Given the description of an element on the screen output the (x, y) to click on. 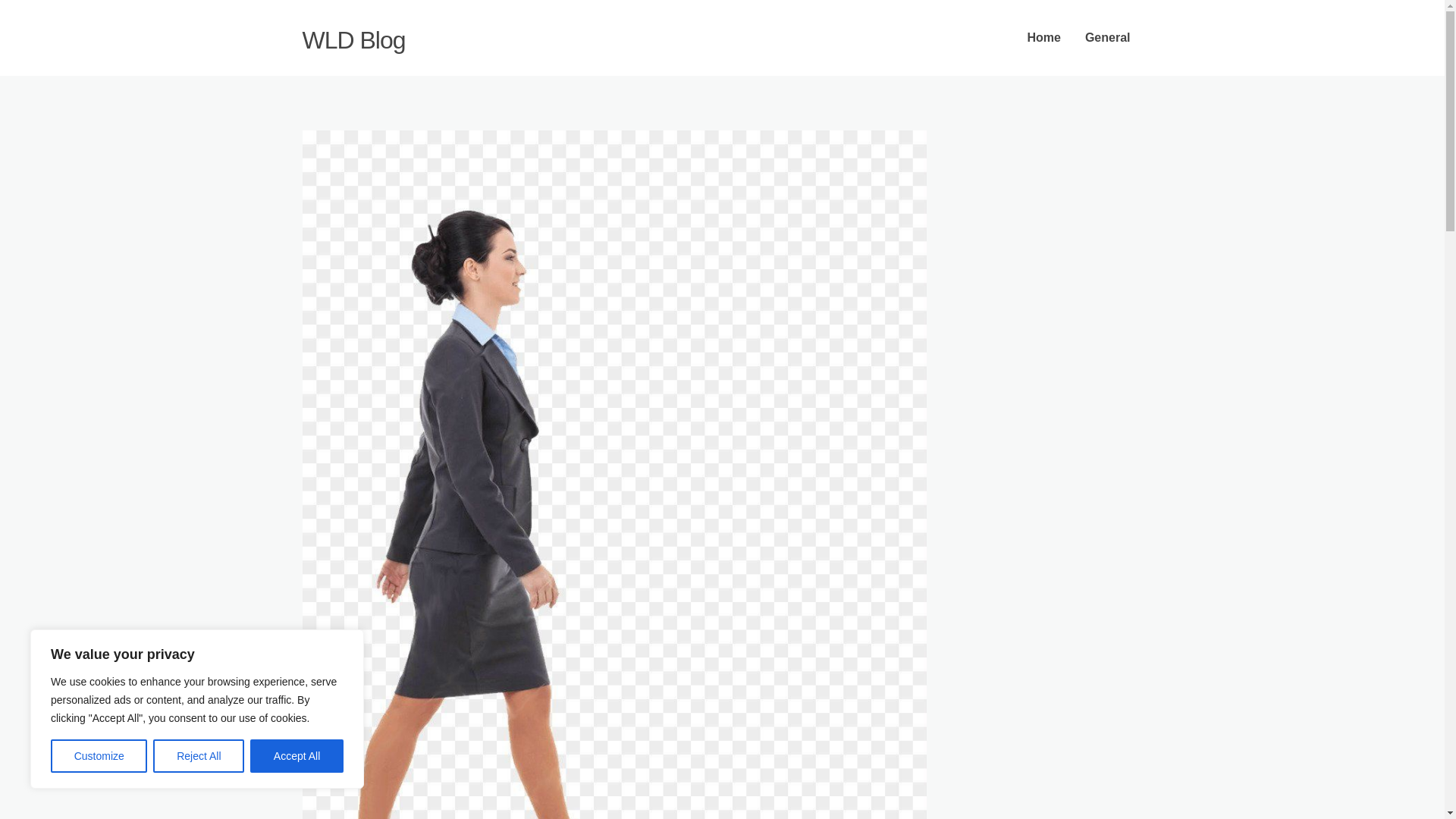
Home (1042, 37)
Accept All (296, 756)
Reject All (198, 756)
General (1107, 37)
WLD Blog (352, 39)
Customize (98, 756)
